Given the description of an element on the screen output the (x, y) to click on. 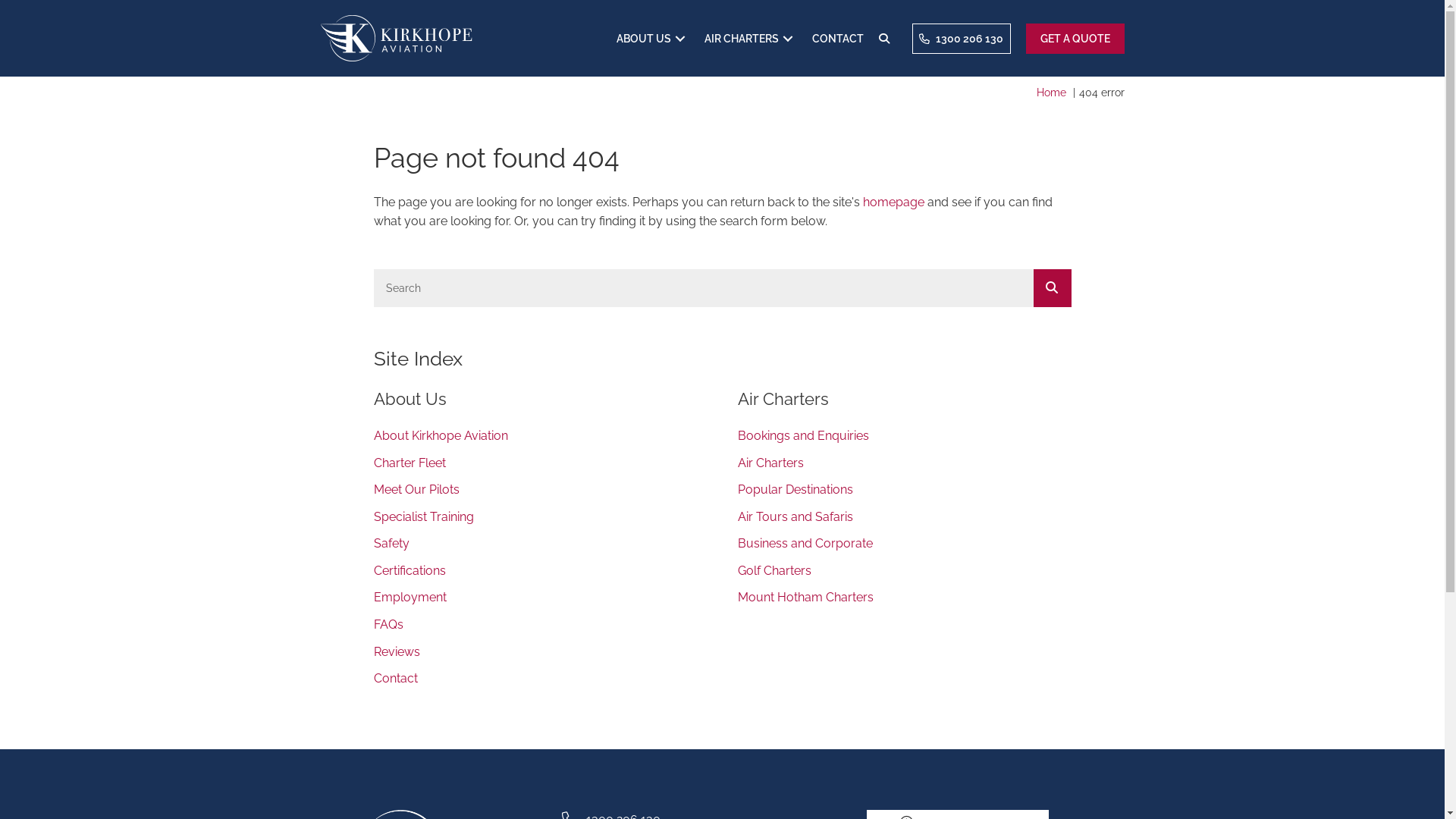
Mount Hotham Charters Element type: text (903, 601)
Specialist Training Element type: text (539, 520)
Business and Corporate Element type: text (903, 547)
homepage Element type: text (893, 201)
Contact Element type: text (539, 682)
Safety Element type: text (539, 547)
Popular Destinations Element type: text (903, 493)
Kirkhope Aviation Logo White Element type: hover (395, 38)
Bookings and Enquiries Element type: text (903, 439)
About Kirkhope Aviation Element type: text (539, 439)
Charter Fleet Element type: text (539, 466)
Meet Our Pilots Element type: text (539, 493)
Home Element type: text (1050, 92)
AIR CHARTERS Element type: text (749, 38)
CONTACT Element type: text (836, 38)
Certifications Element type: text (539, 574)
Search Element type: hover (702, 288)
Reviews Element type: text (539, 655)
Air Charters Element type: text (903, 466)
FAQs Element type: text (539, 628)
Air Tours and Safaris Element type: text (903, 520)
Golf Charters Element type: text (903, 574)
1300 206 130 Element type: text (960, 38)
Employment Element type: text (539, 601)
GET A QUOTE Element type: text (1074, 38)
ABOUT US Element type: text (652, 38)
